Given the description of an element on the screen output the (x, y) to click on. 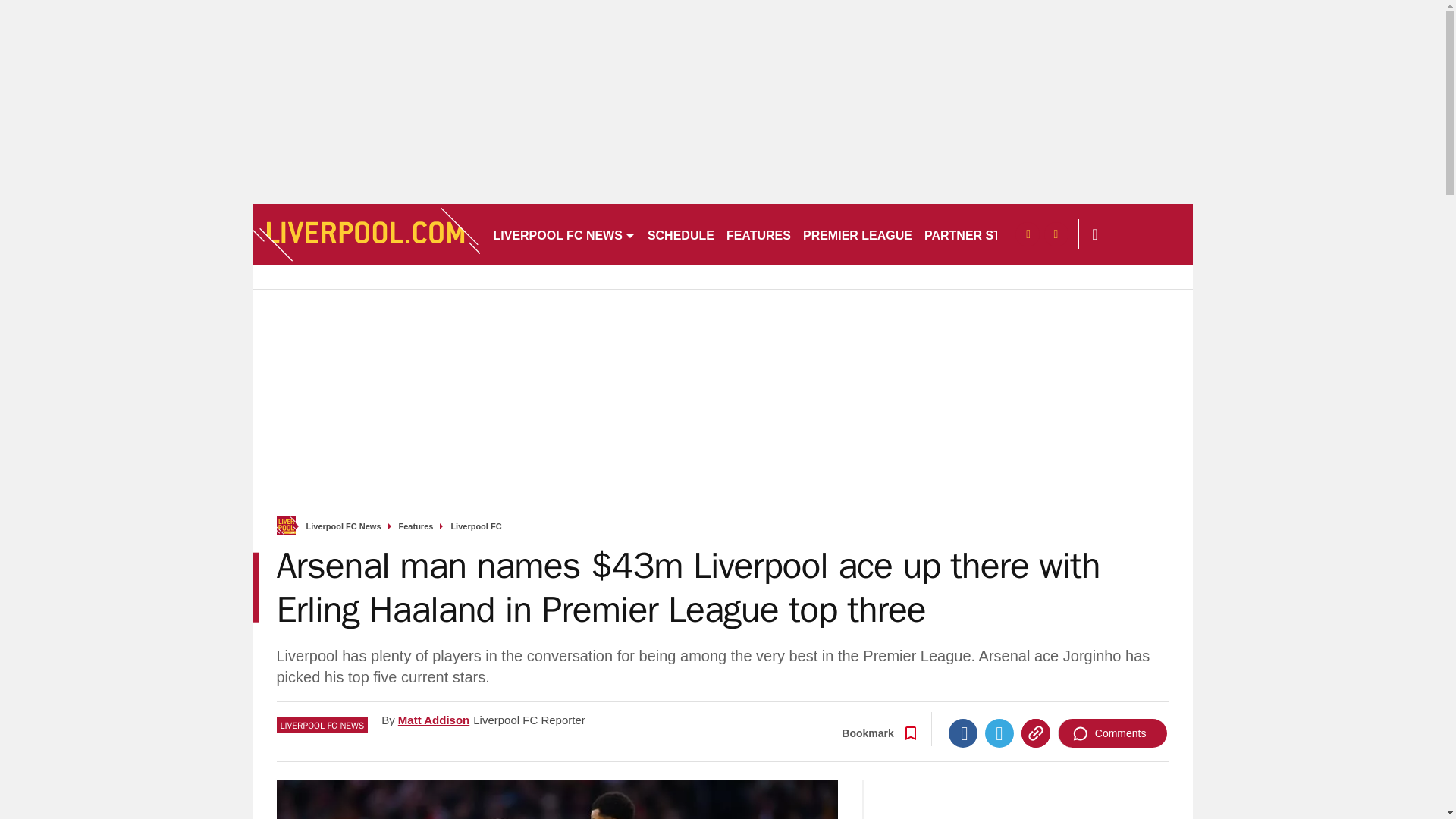
LIVERPOOL FC NEWS (563, 233)
facebook (1026, 233)
frontpage (285, 525)
PARTNER STORIES (981, 233)
FEATURES (758, 233)
liverpool (365, 233)
Liverpool FC News (343, 526)
Features (415, 526)
Twitter (999, 733)
PREMIER LEAGUE (857, 233)
Facebook (962, 733)
SCHEDULE (681, 233)
Liverpool FC (474, 526)
twitter (1055, 233)
Comments (1112, 733)
